Given the description of an element on the screen output the (x, y) to click on. 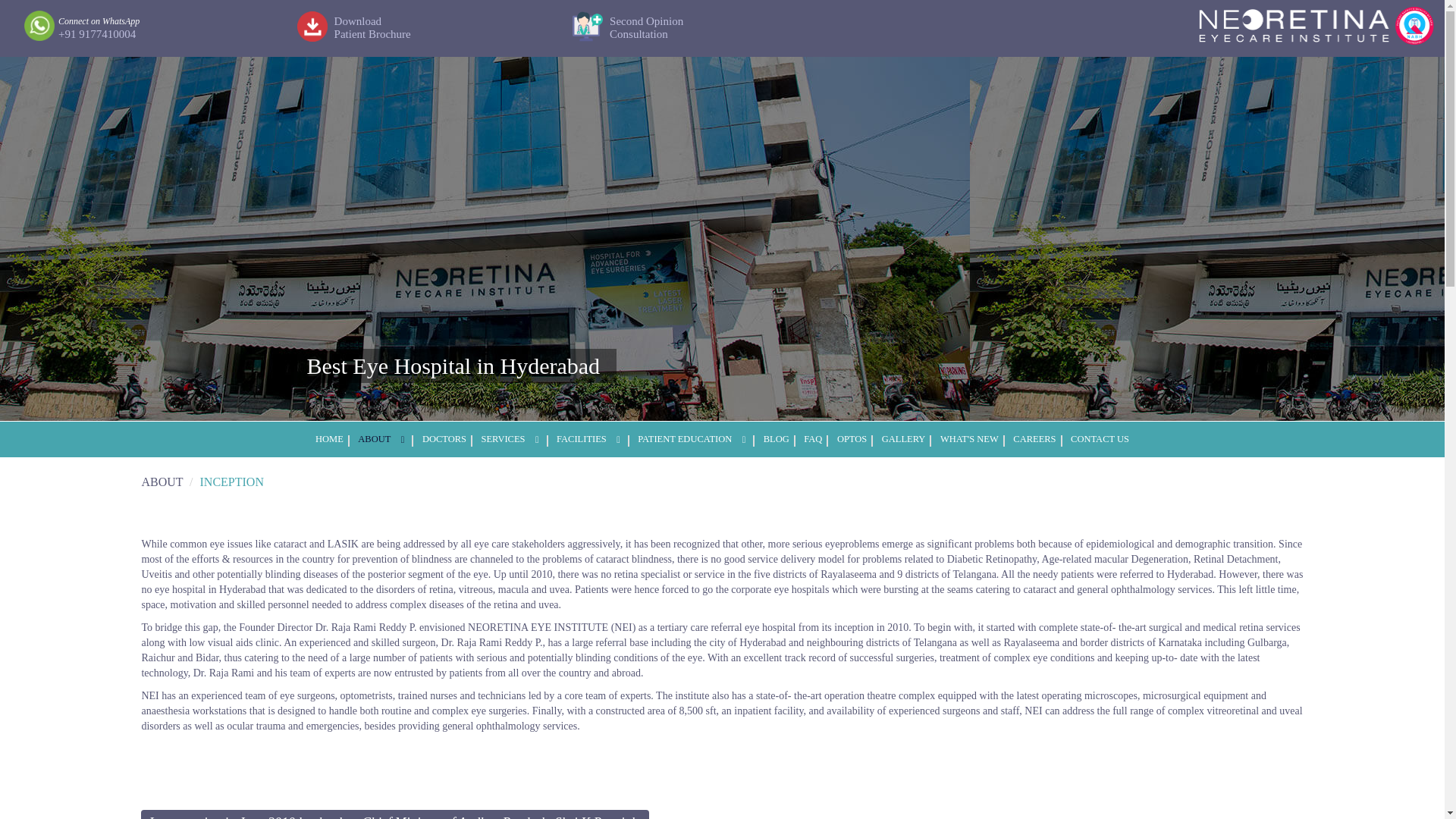
DOCTORS (443, 439)
BLOG (370, 28)
FACILITIES (775, 439)
GALLERY (589, 439)
SERVICES (903, 439)
WHAT'S NEW (510, 439)
HOME (969, 439)
CAREERS (644, 28)
